Given the description of an element on the screen output the (x, y) to click on. 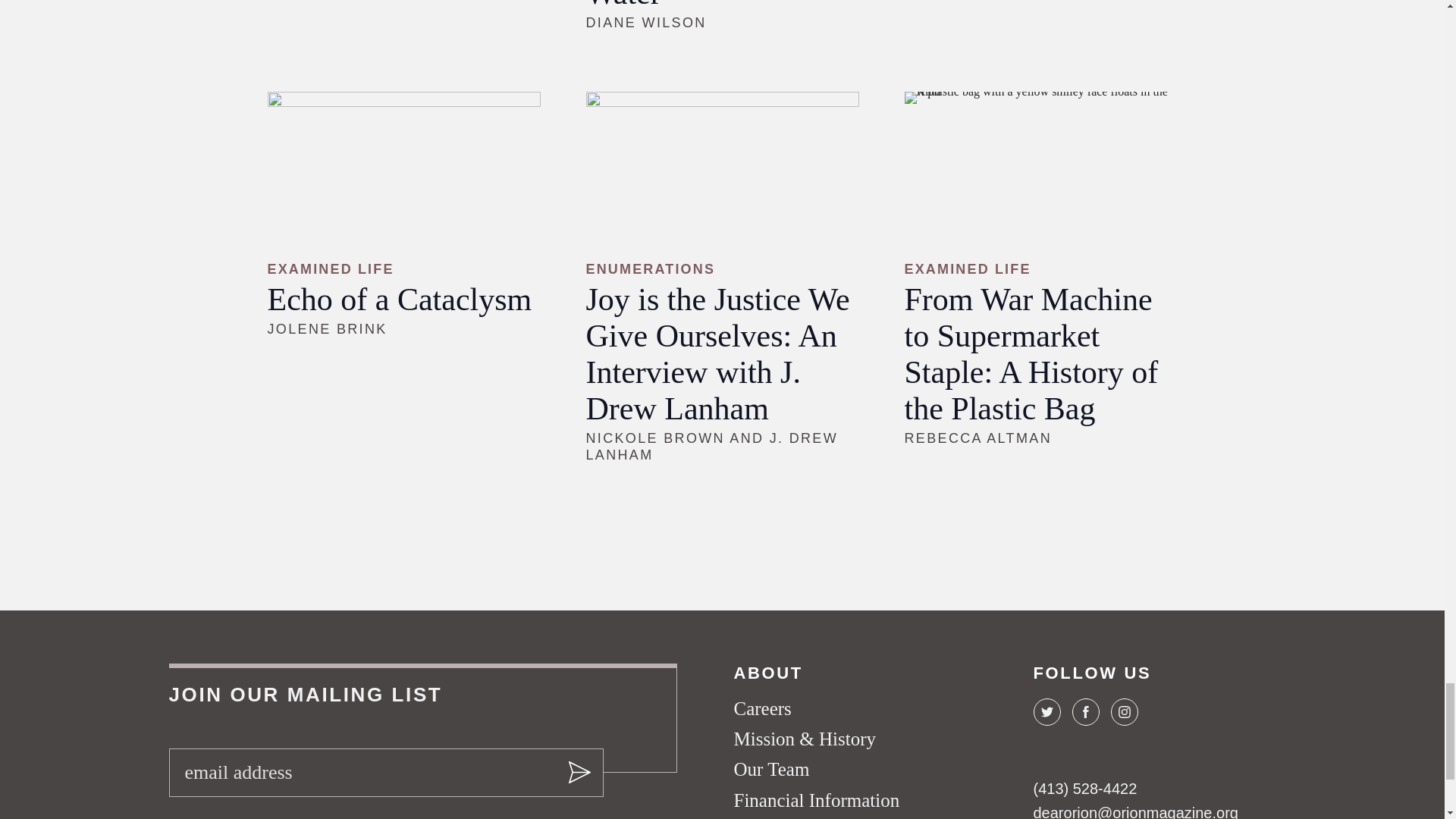
On Instagram (1123, 711)
On Facebook (1085, 711)
On Twitter (1045, 711)
